Given the description of an element on the screen output the (x, y) to click on. 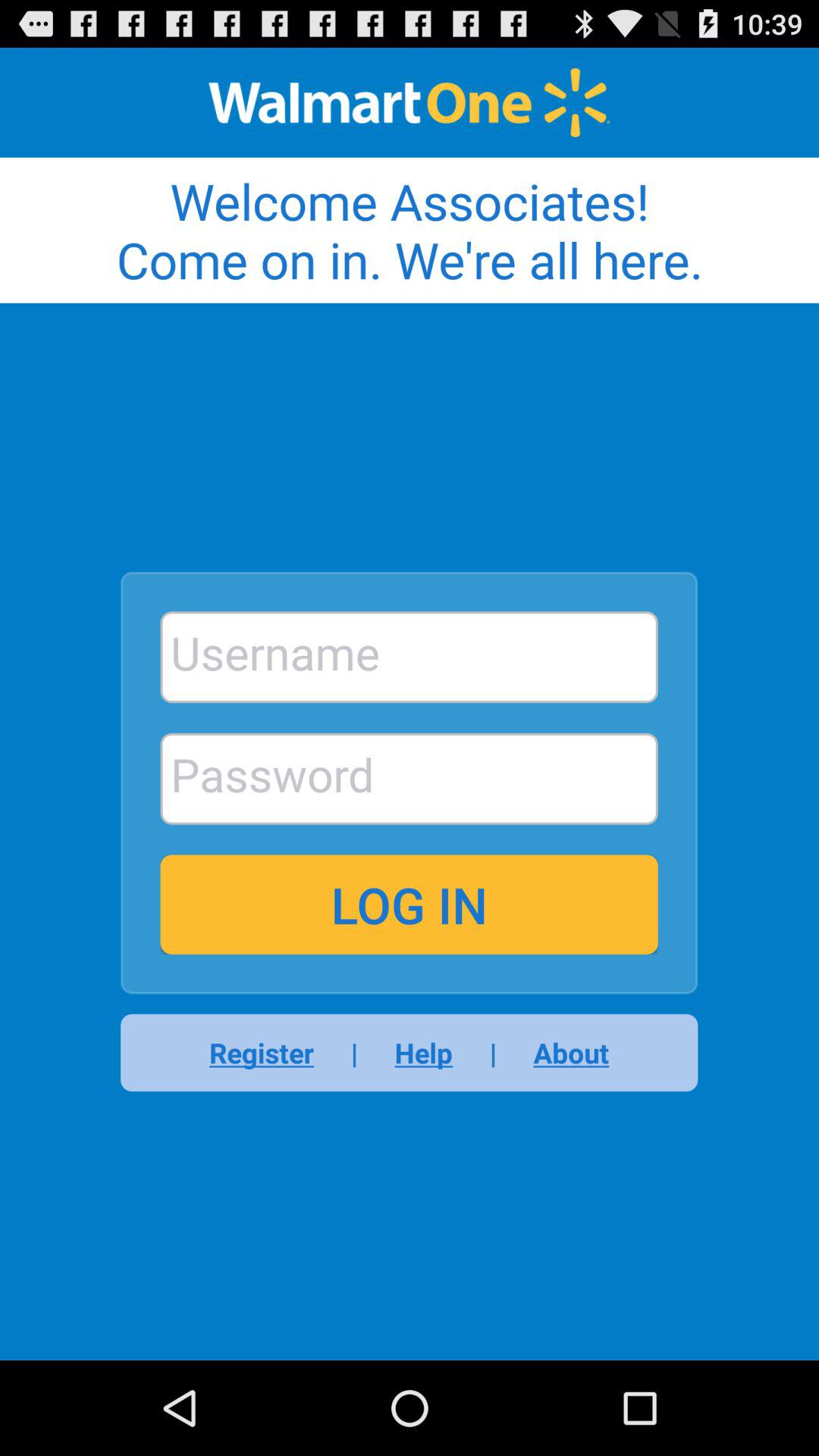
select the app above  register (409, 904)
